Given the description of an element on the screen output the (x, y) to click on. 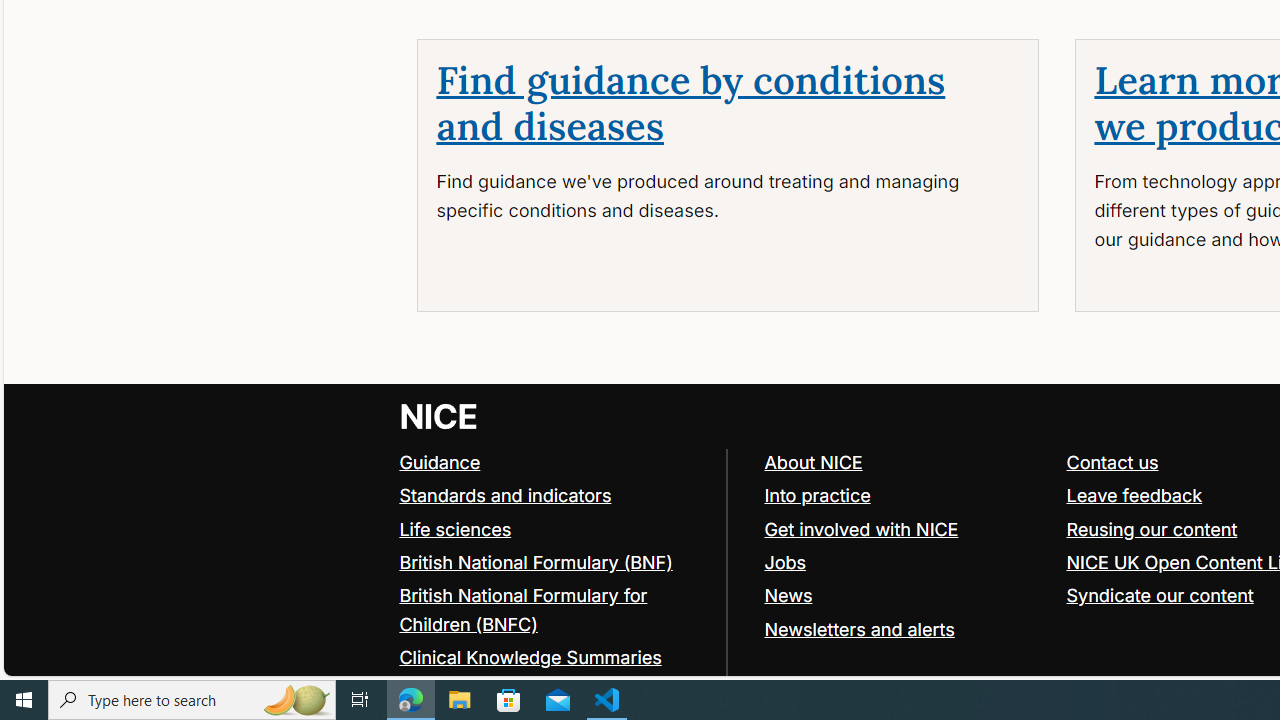
Newsletters and alerts (859, 628)
Leave feedback (1134, 494)
British National Formulary for Children (BNFC) (523, 609)
Syndicate our content (1160, 594)
About NICE (813, 461)
Newsletters and alerts (906, 628)
Into practice (817, 494)
Find guidance by conditions and diseases (690, 103)
Guidance (554, 462)
About NICE (906, 462)
Jobs (785, 561)
Life sciences (554, 529)
